Given the description of an element on the screen output the (x, y) to click on. 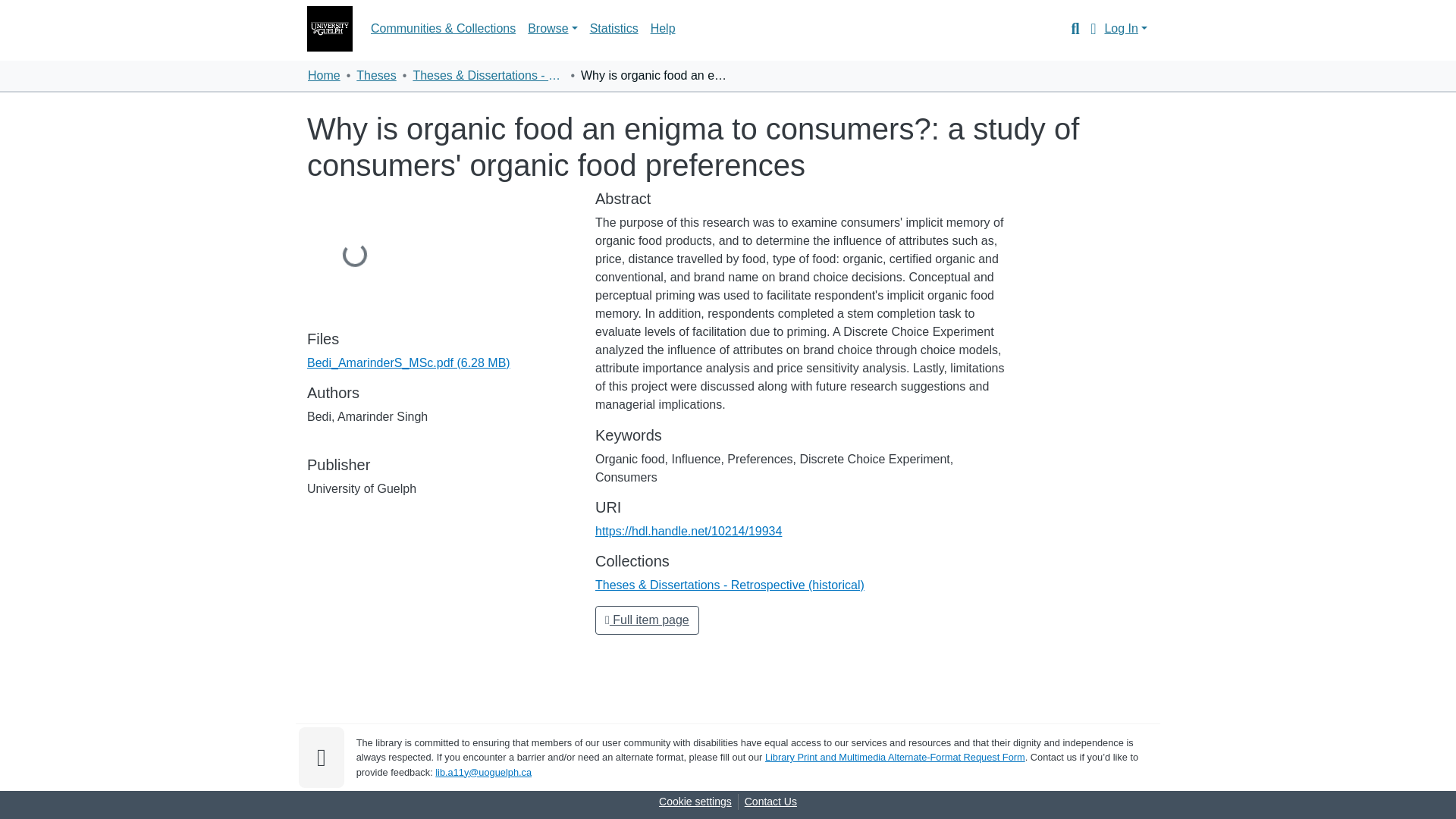
Help (663, 28)
Language switch (1092, 28)
Statistics (614, 28)
Cookie settings (695, 801)
Library Print and Multimedia Alternate-Format Request Form (895, 756)
Theses (376, 75)
Statistics (614, 28)
Browse (552, 28)
Log In (1125, 28)
Submit search (1071, 28)
Contact Us (770, 801)
Full item page (646, 620)
Search (1071, 28)
Home (323, 75)
